Given the description of an element on the screen output the (x, y) to click on. 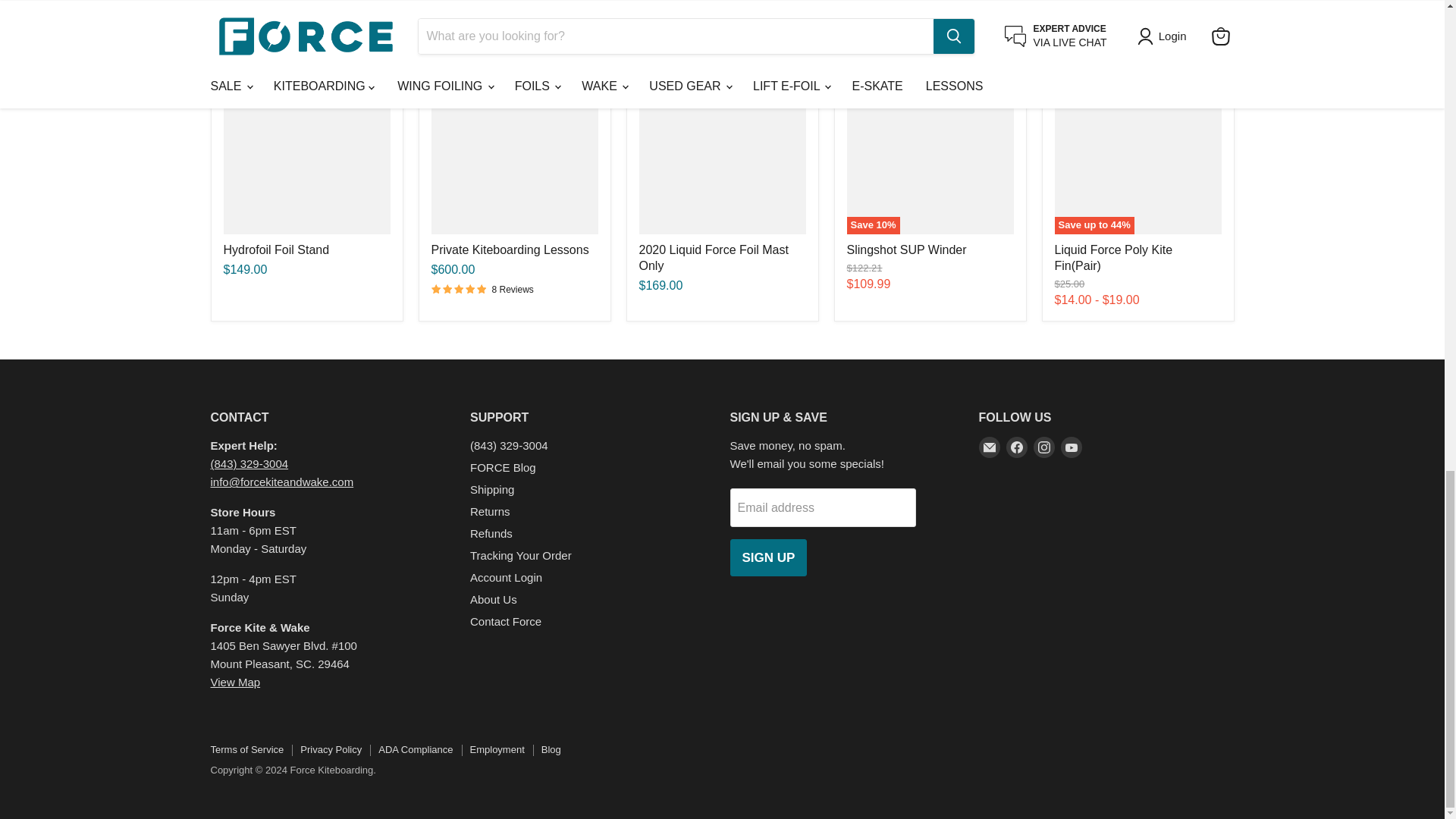
Instagram (1043, 446)
Email (988, 446)
tel:8433293004 (249, 463)
Facebook (1016, 446)
Google Map Force Kite and Wake (280, 690)
YouTube (1070, 446)
